Given the description of an element on the screen output the (x, y) to click on. 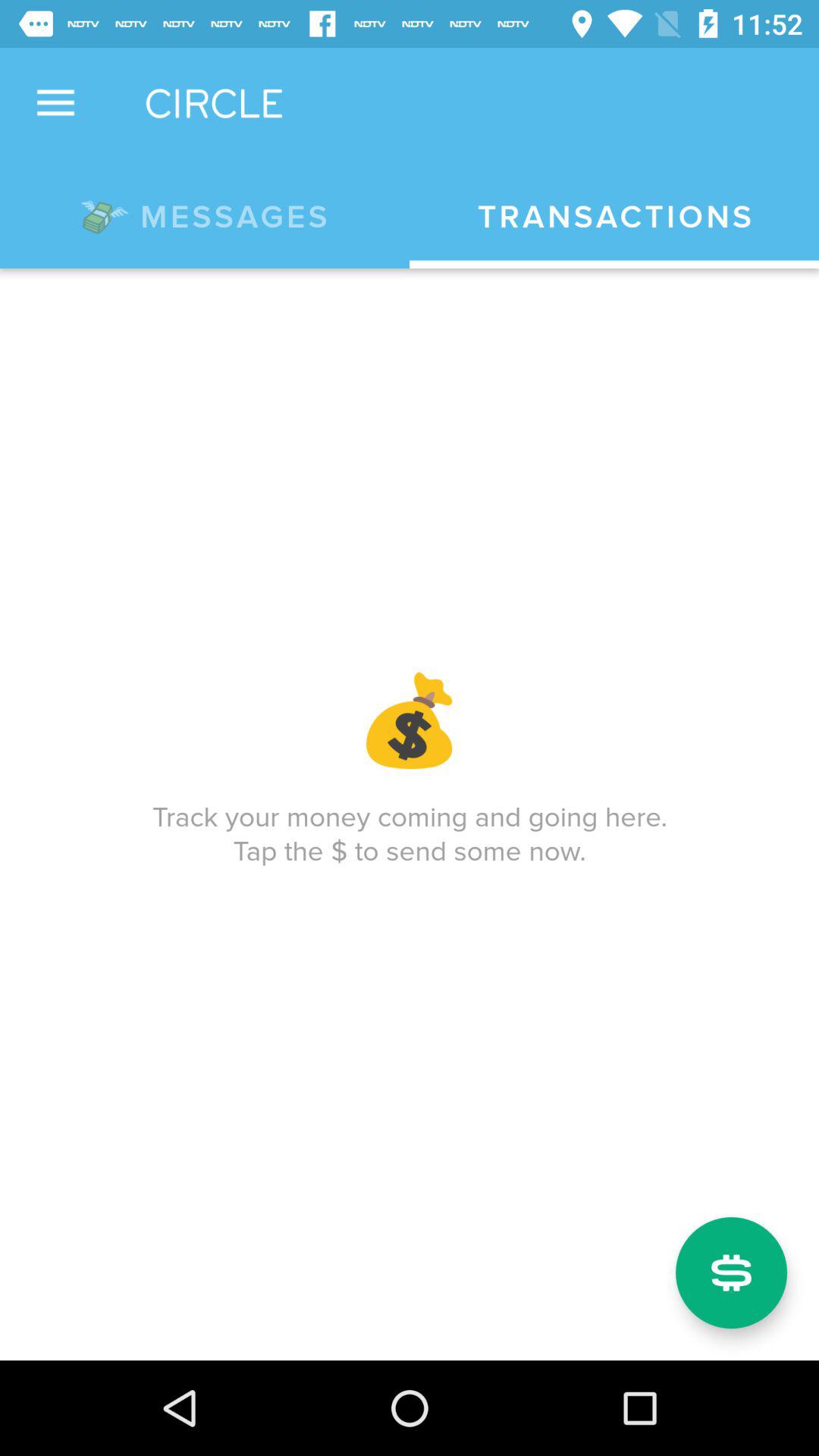
turn on the icon at the top right corner (614, 217)
